Given the description of an element on the screen output the (x, y) to click on. 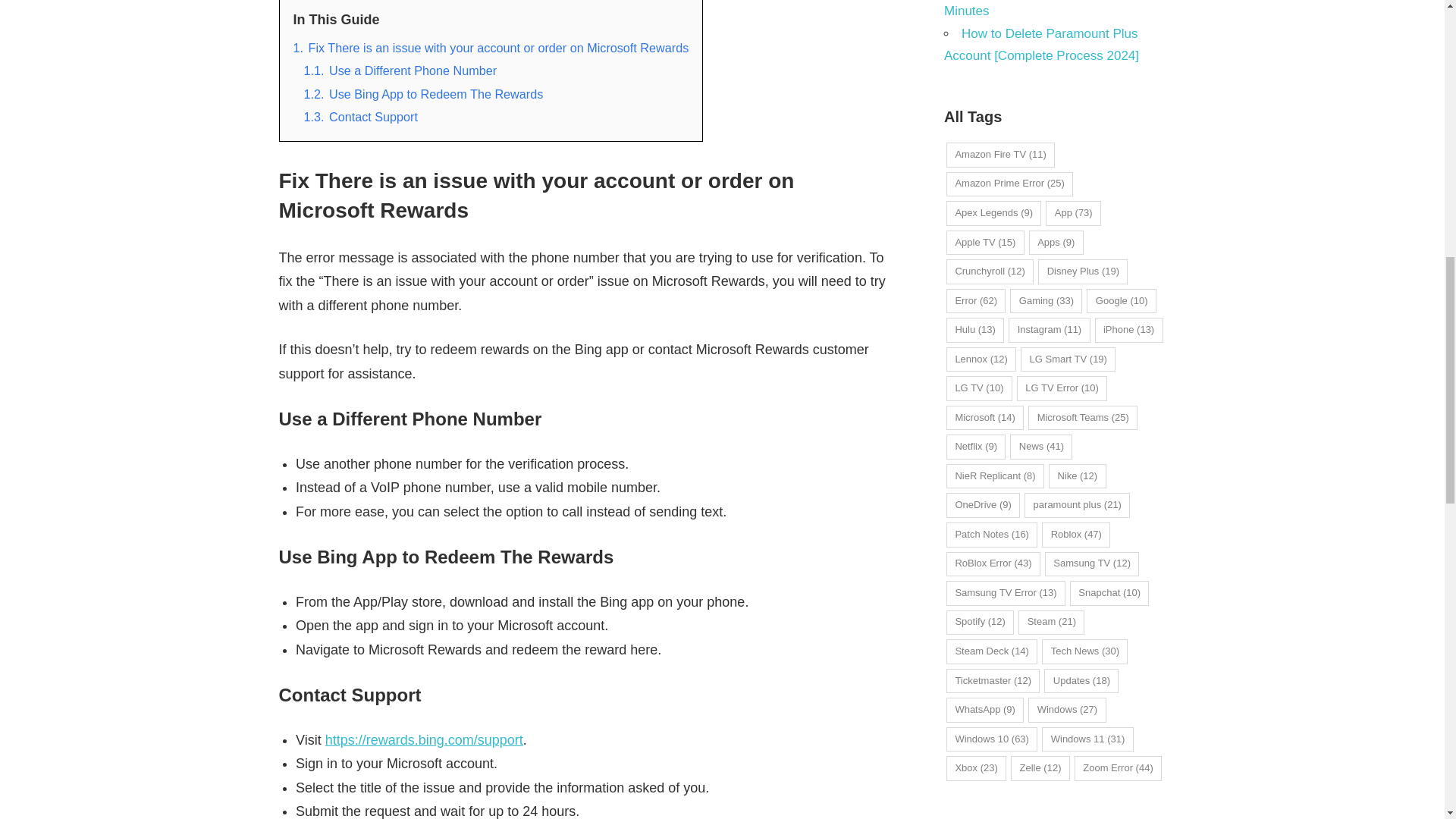
1.1. Use a Different Phone Number (399, 69)
1.2. Use Bing App to Redeem The Rewards (422, 92)
1.3. Contact Support (359, 116)
